Given the description of an element on the screen output the (x, y) to click on. 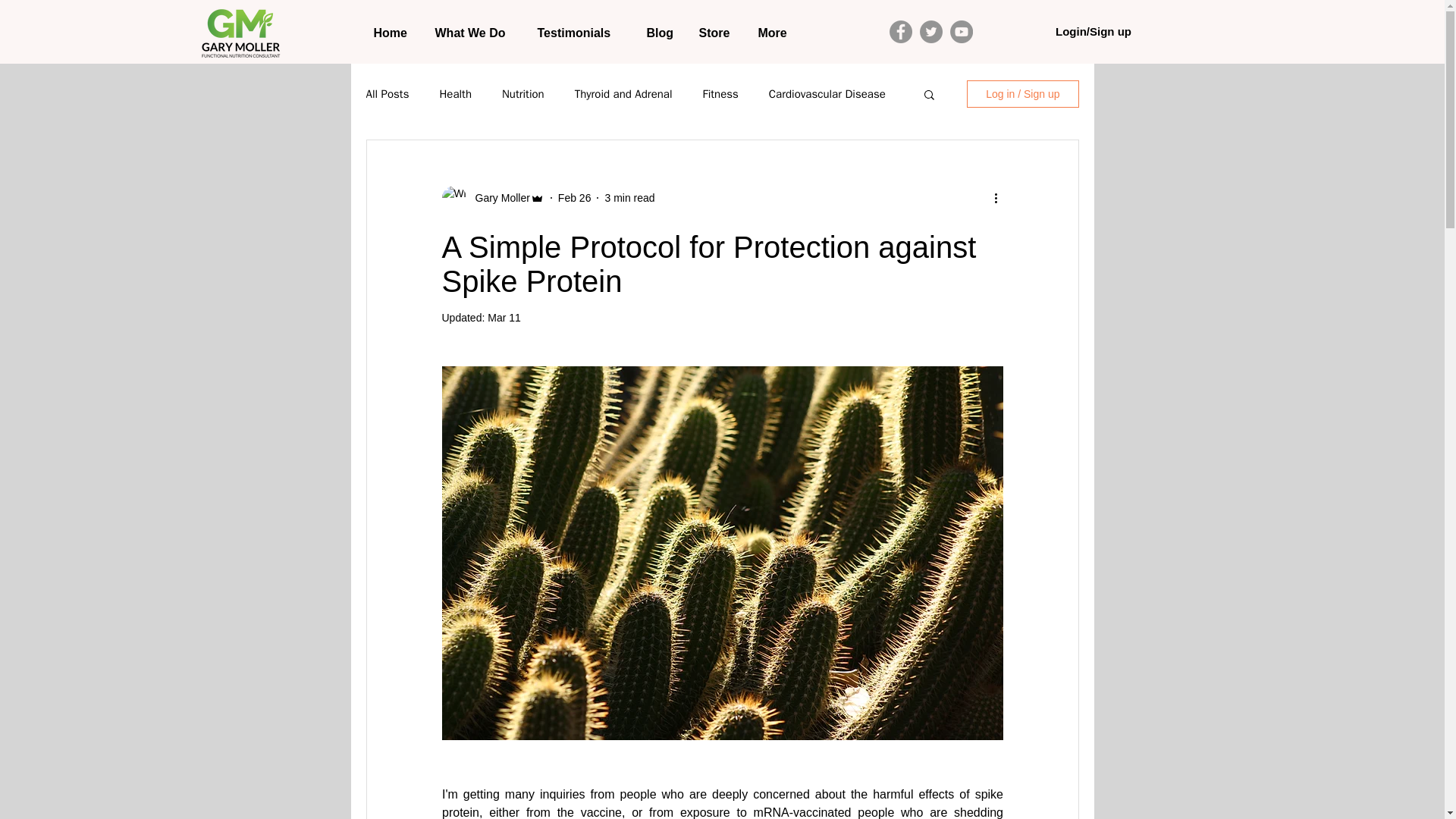
Store (716, 33)
Feb 26 (574, 196)
3 min read (628, 196)
Mar 11 (504, 317)
Thyroid and Adrenal (623, 93)
Fitness (719, 93)
Blog (660, 33)
Gary Moller (497, 197)
Nutrition (523, 93)
Health (455, 93)
Home (392, 33)
Cardiovascular Disease (826, 93)
What We Do (474, 33)
All Posts (387, 93)
Gary Moller - Functional Nutrition Consultant (240, 32)
